Given the description of an element on the screen output the (x, y) to click on. 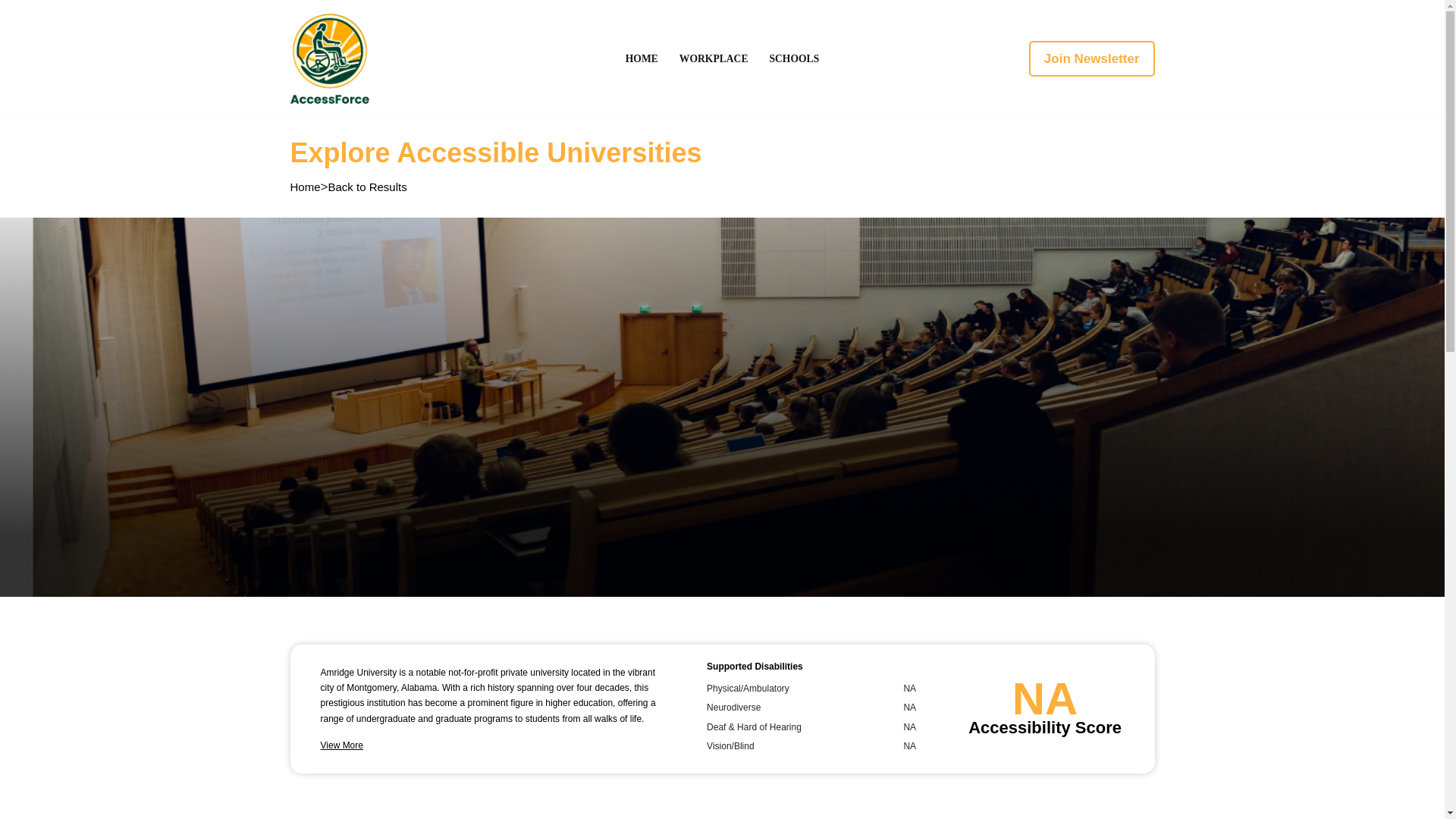
Join Newsletter (1091, 58)
WORKPLACE (713, 58)
SCHOOLS (793, 58)
HOME (642, 58)
Home (304, 186)
Skip to content (11, 31)
Back to Results (366, 186)
View More (341, 744)
